Given the description of an element on the screen output the (x, y) to click on. 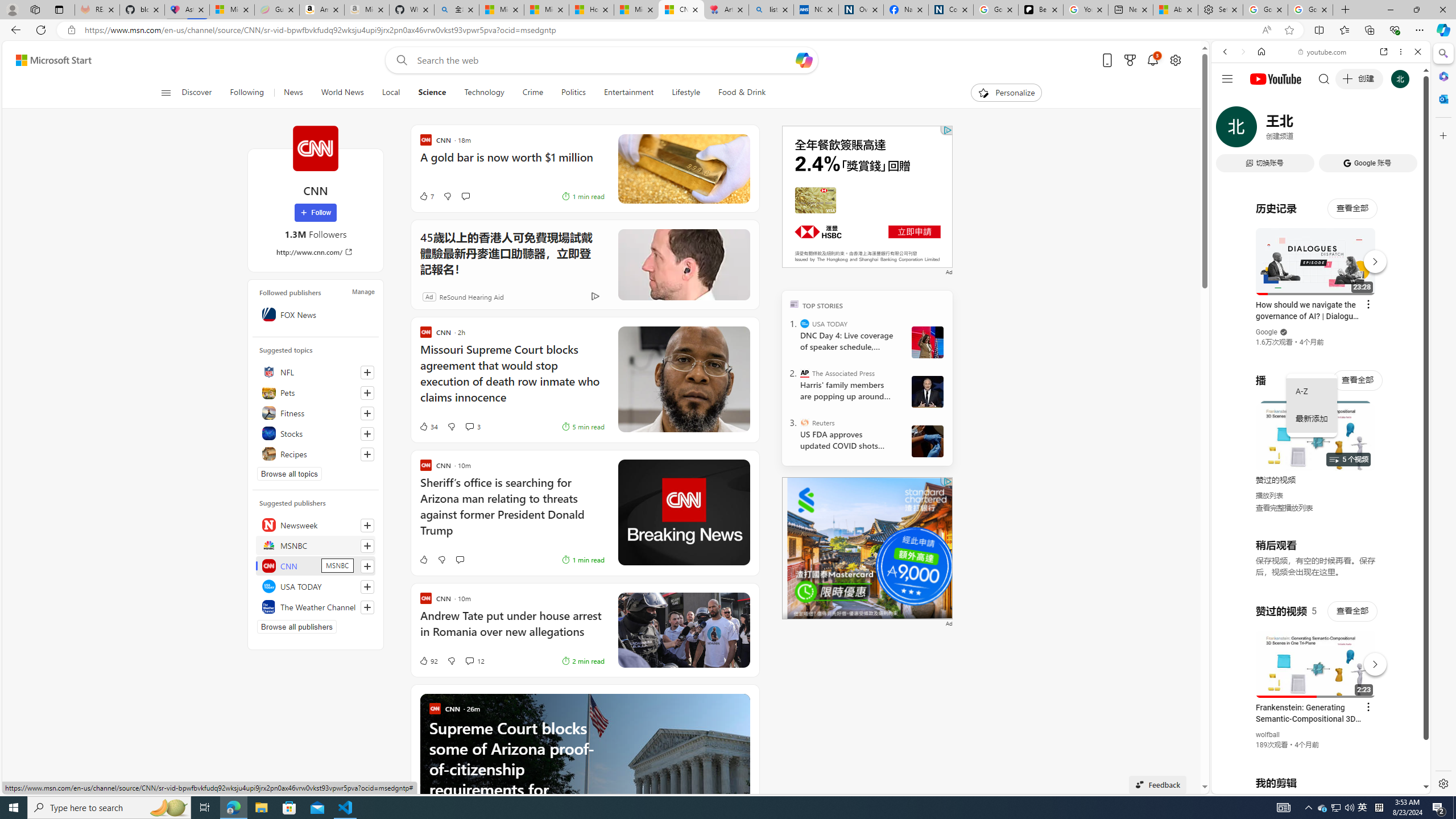
Follow this topic (367, 454)
NFL (315, 371)
YouTube - YouTube (1315, 560)
